Given the description of an element on the screen output the (x, y) to click on. 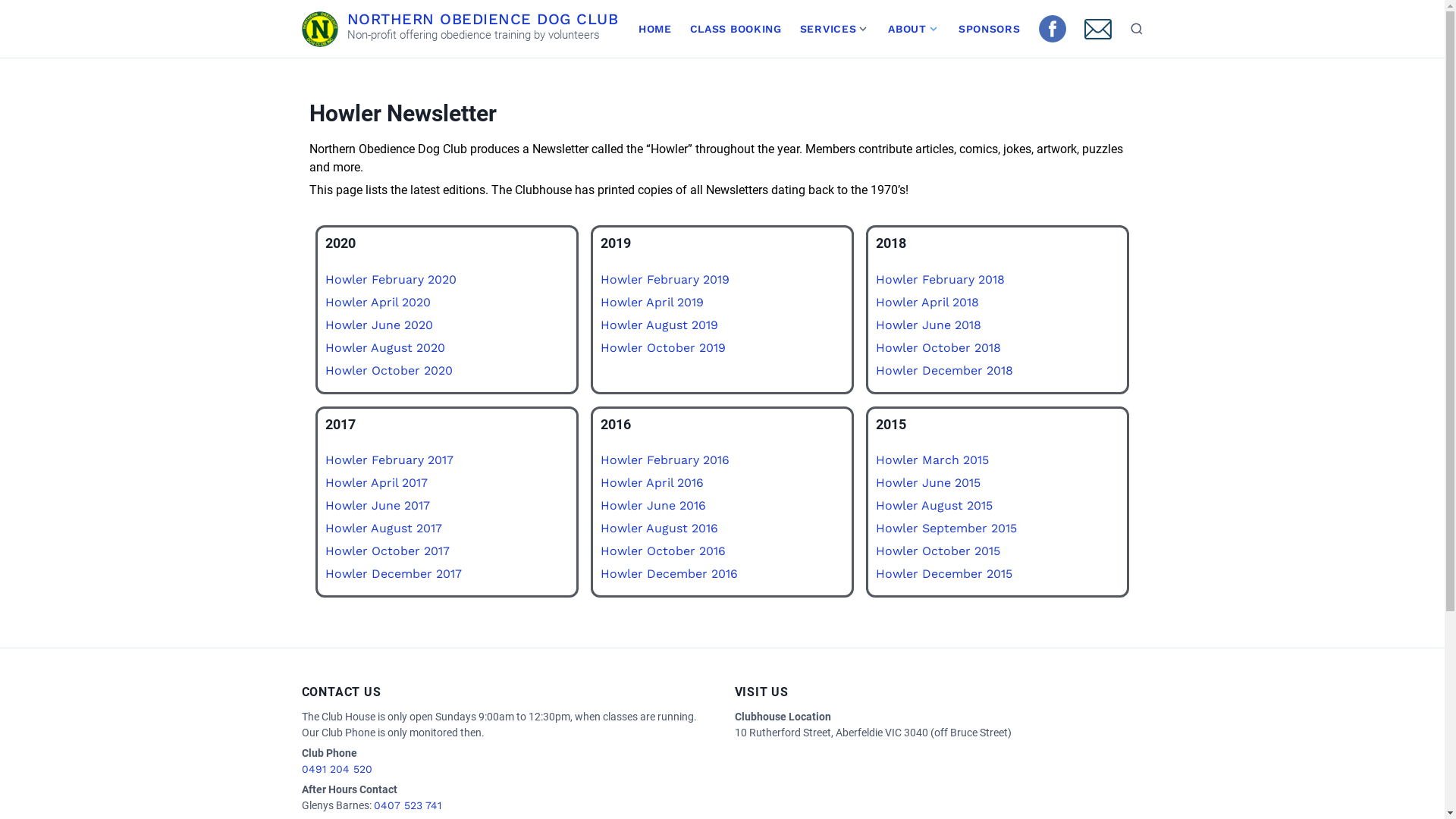
Howler March 2015 Element type: text (931, 459)
Howler June 2018 Element type: text (928, 323)
Howler April 2019 Element type: text (651, 301)
Howler August 2015 Element type: text (933, 505)
Howler September 2015 Element type: text (945, 527)
Howler August 2019 Element type: text (659, 323)
Howler August 2016 Element type: text (659, 527)
SERVICES Element type: text (823, 29)
Howler February 2017 Element type: text (388, 459)
Howler October 2017 Element type: text (386, 550)
Howler June 2016 Element type: text (653, 505)
Howler August 2020 Element type: text (384, 346)
HOME Element type: text (654, 29)
Howler December 2016 Element type: text (668, 573)
0491 204 520 Element type: text (336, 768)
Howler June 2015 Element type: text (927, 482)
Howler February 2018 Element type: text (939, 278)
Howler October 2020 Element type: text (387, 369)
Howler February 2016 Element type: text (664, 459)
Howler October 2016 Element type: text (662, 550)
Howler June 2017 Element type: text (376, 505)
Howler June 2020 Element type: text (378, 323)
Howler April 2020 Element type: text (376, 301)
Howler August 2017 Element type: text (382, 527)
Howler February 2020 Element type: text (389, 278)
Howler April 2018 Element type: text (927, 301)
0407 523 741 Element type: text (406, 805)
NORTHERN OBEDIENCE DOG CLUB Element type: text (482, 18)
Howler December 2015 Element type: text (943, 573)
Howler April 2016 Element type: text (651, 482)
CLASS BOOKING Element type: text (735, 29)
Howler February 2019 Element type: text (664, 278)
SPONSORS Element type: text (989, 29)
Howler October 2015 Element type: text (937, 550)
Howler October 2018 Element type: text (938, 346)
Howler December 2018 Element type: text (944, 369)
Howler December 2017 Element type: text (392, 573)
Howler October 2019 Element type: text (662, 346)
ABOUT Element type: text (902, 29)
Howler April 2017 Element type: text (375, 482)
